Given the description of an element on the screen output the (x, y) to click on. 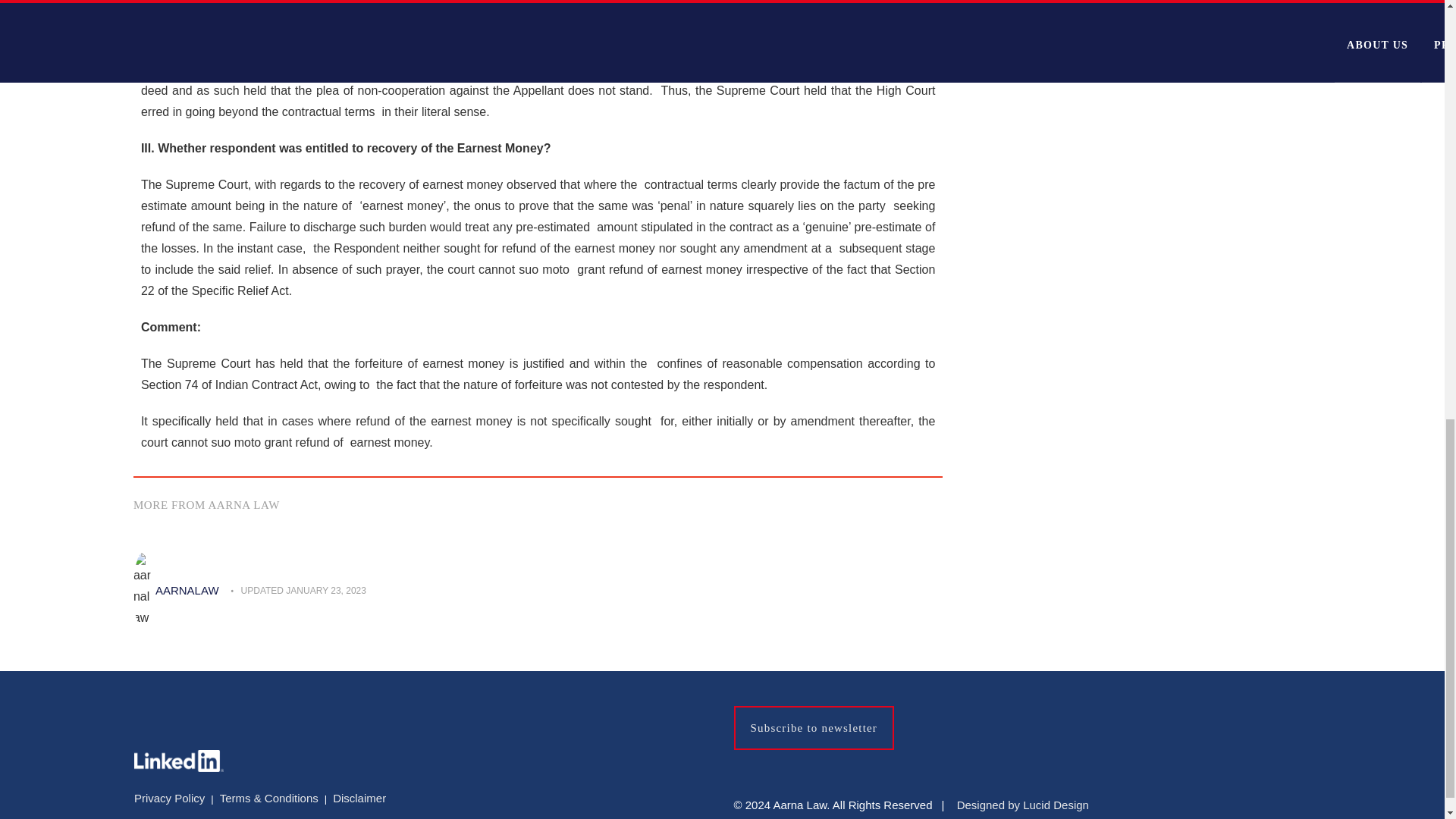
Subscribe to newsletter (814, 727)
Disclaimer (359, 797)
Privacy Policy (169, 797)
UPDATED JANUARY 23, 2023 (303, 590)
